Given the description of an element on the screen output the (x, y) to click on. 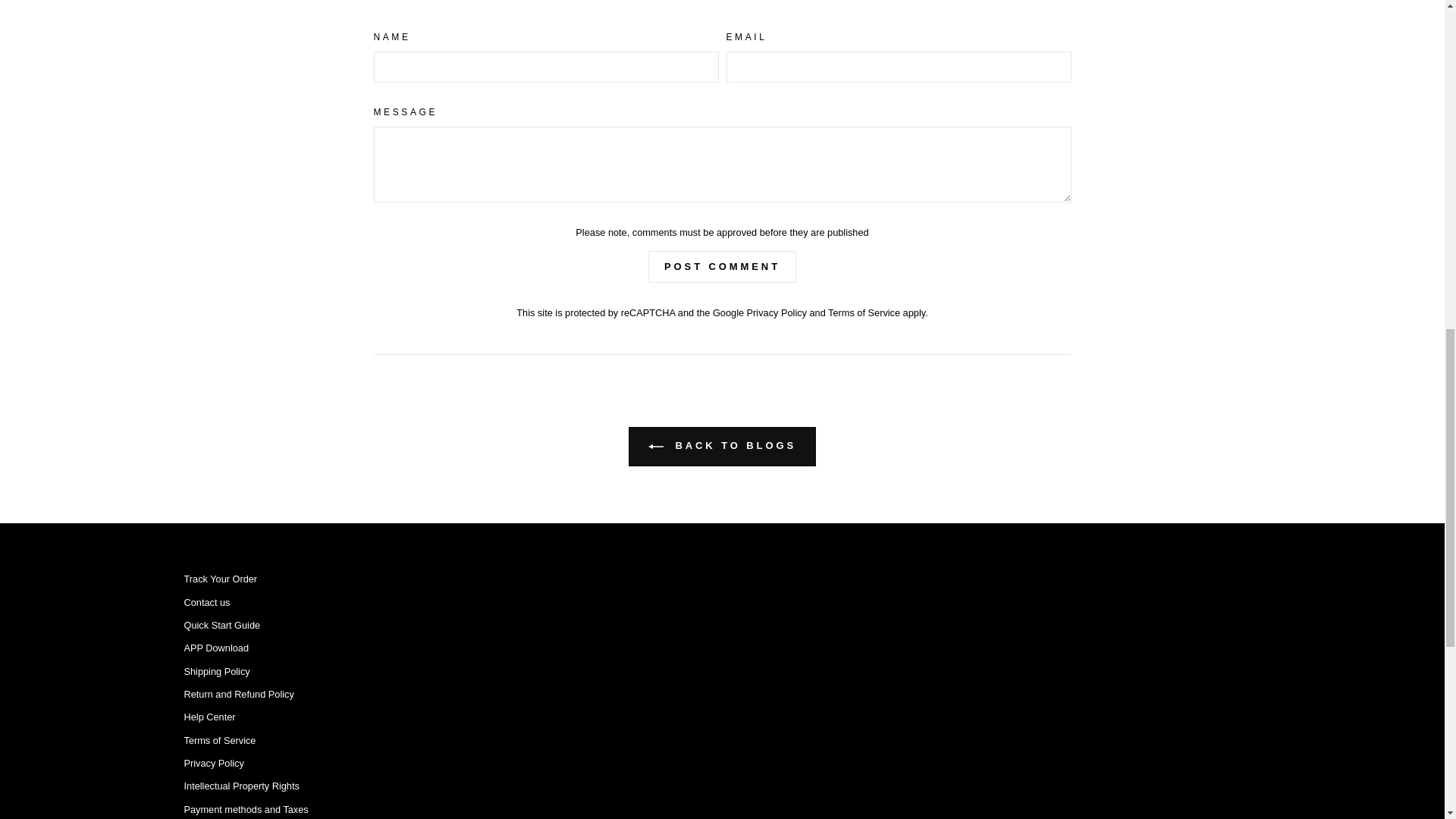
ICON-LEFT-ARROW (655, 446)
